Given the description of an element on the screen output the (x, y) to click on. 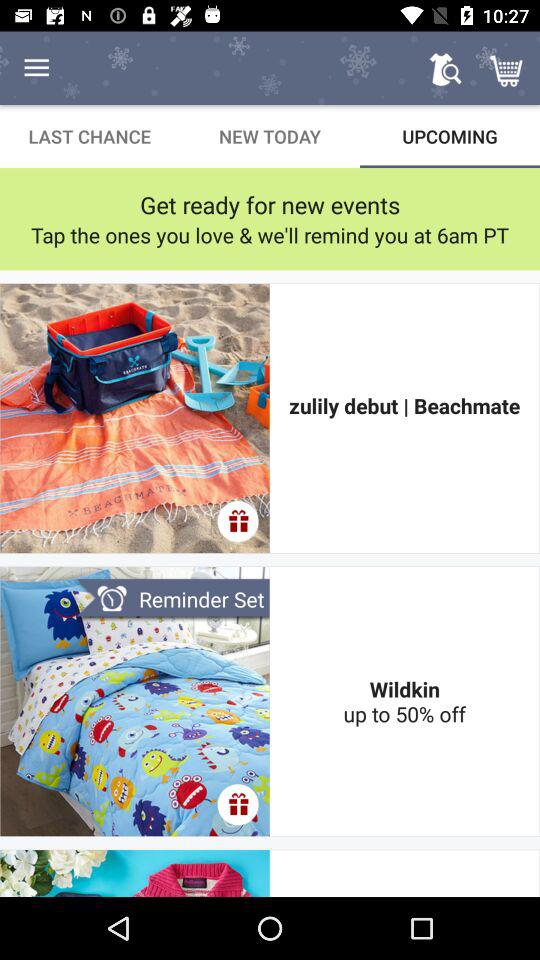
click item above tap the ones item (270, 204)
